Given the description of an element on the screen output the (x, y) to click on. 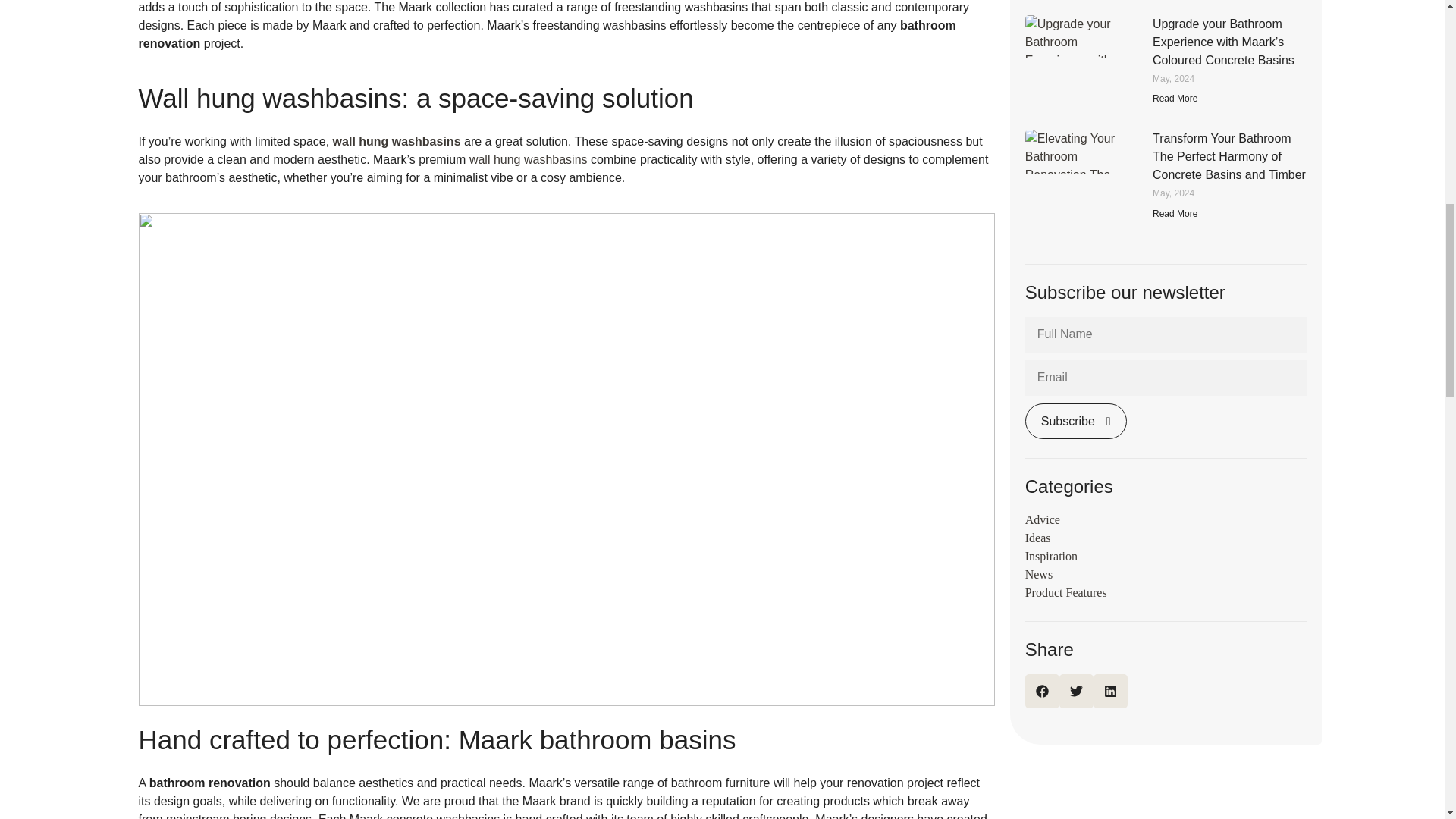
wall hung washbasins (528, 159)
wall hung washbasins (397, 141)
